Given the description of an element on the screen output the (x, y) to click on. 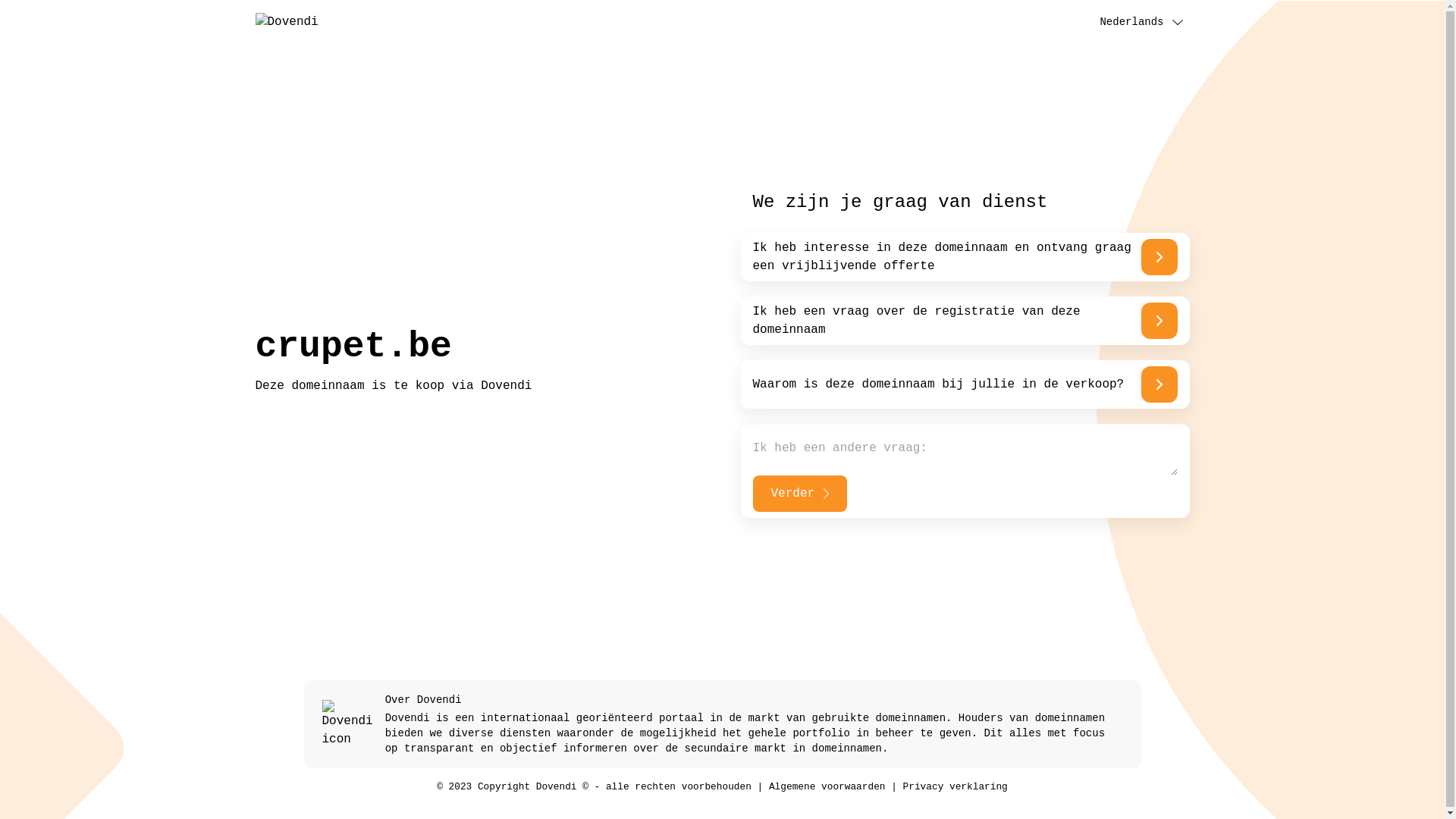
Privacy verklaring Element type: text (955, 786)
Algemene voorwaarden Element type: text (826, 786)
Verder Element type: text (799, 493)
